Given the description of an element on the screen output the (x, y) to click on. 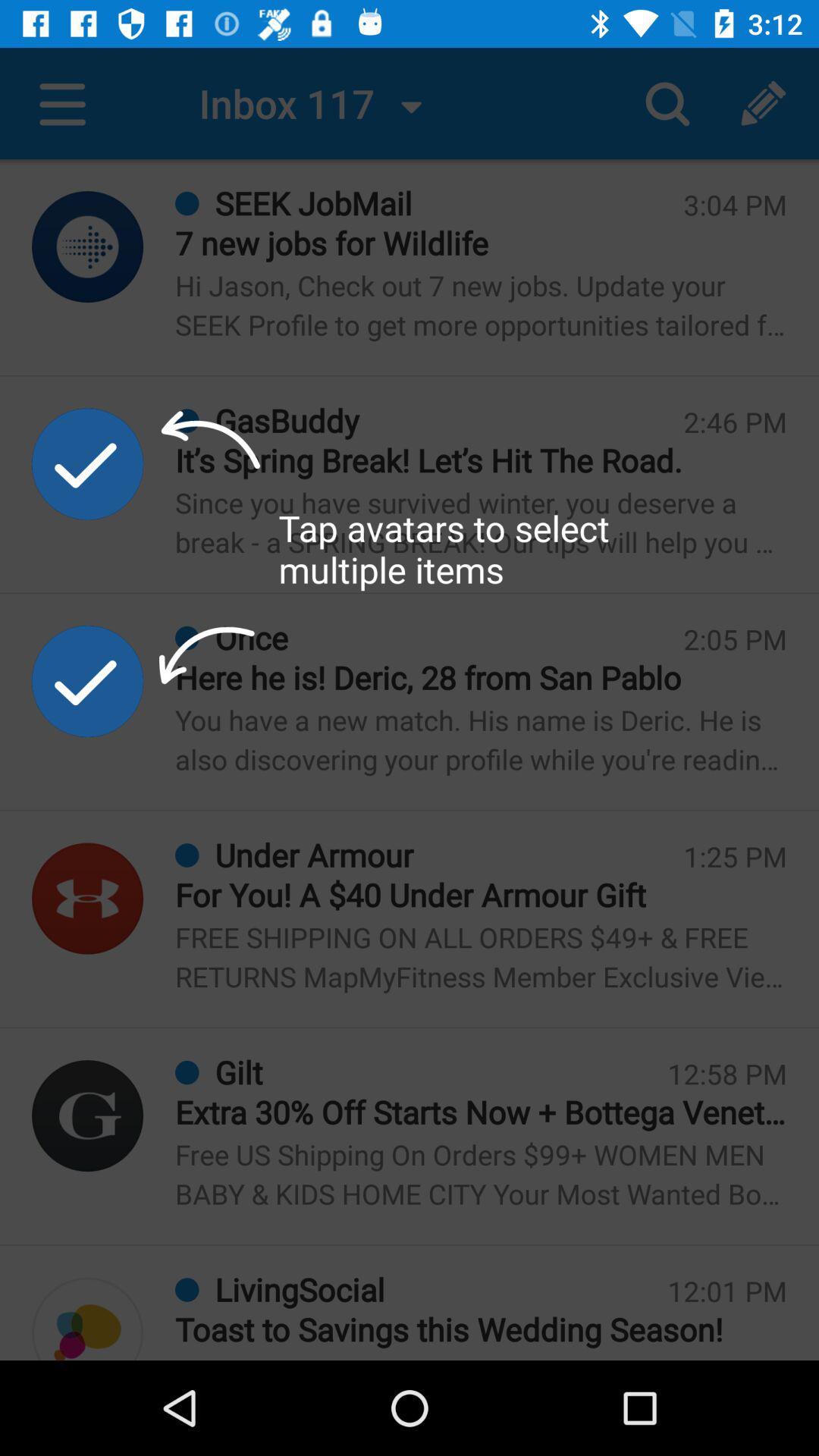
go to advertisement (87, 681)
